Given the description of an element on the screen output the (x, y) to click on. 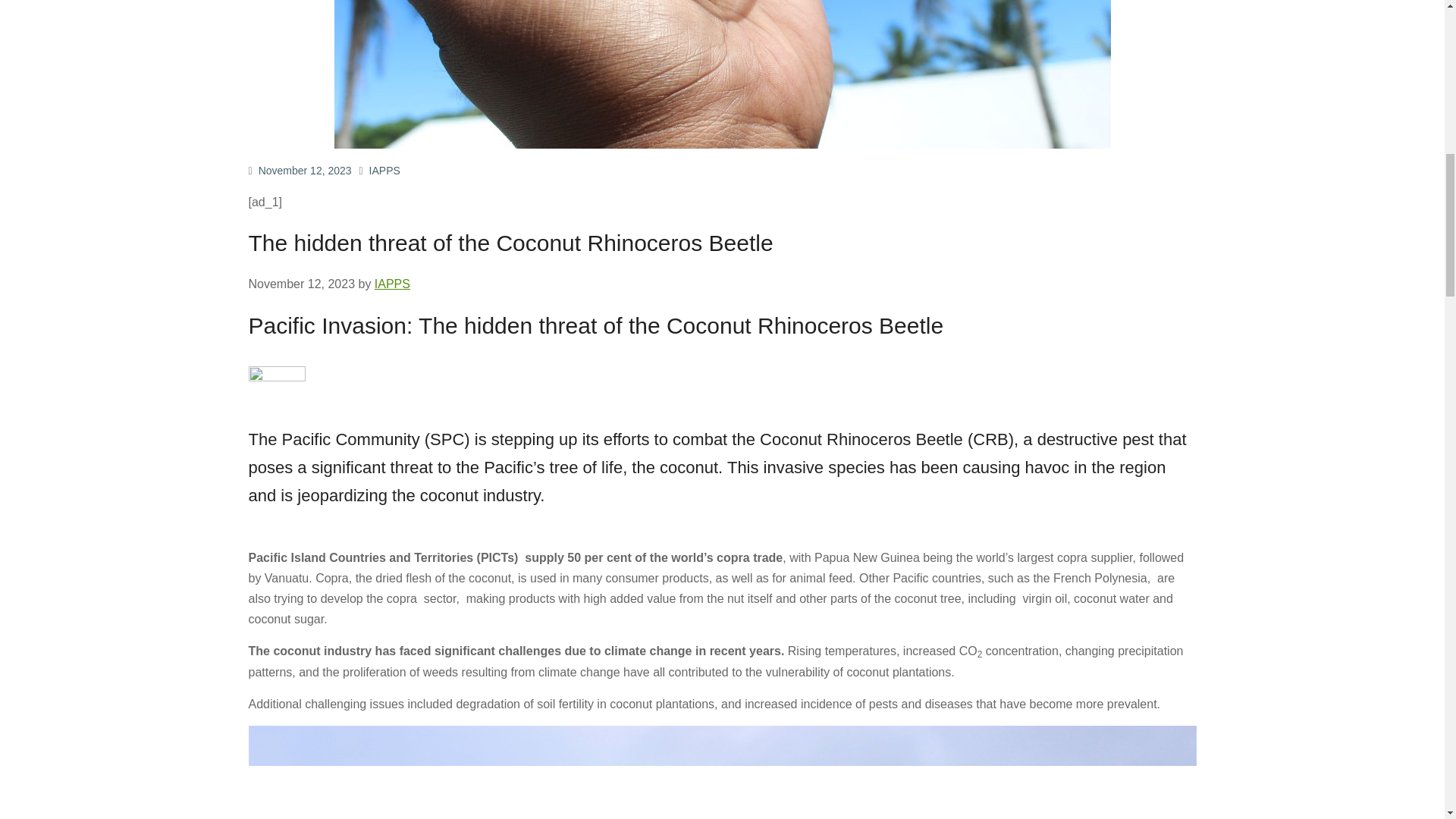
IAPPS (392, 283)
IAPPS (384, 170)
November 12, 2023 (305, 170)
Posts by IAPPS (392, 283)
